Given the description of an element on the screen output the (x, y) to click on. 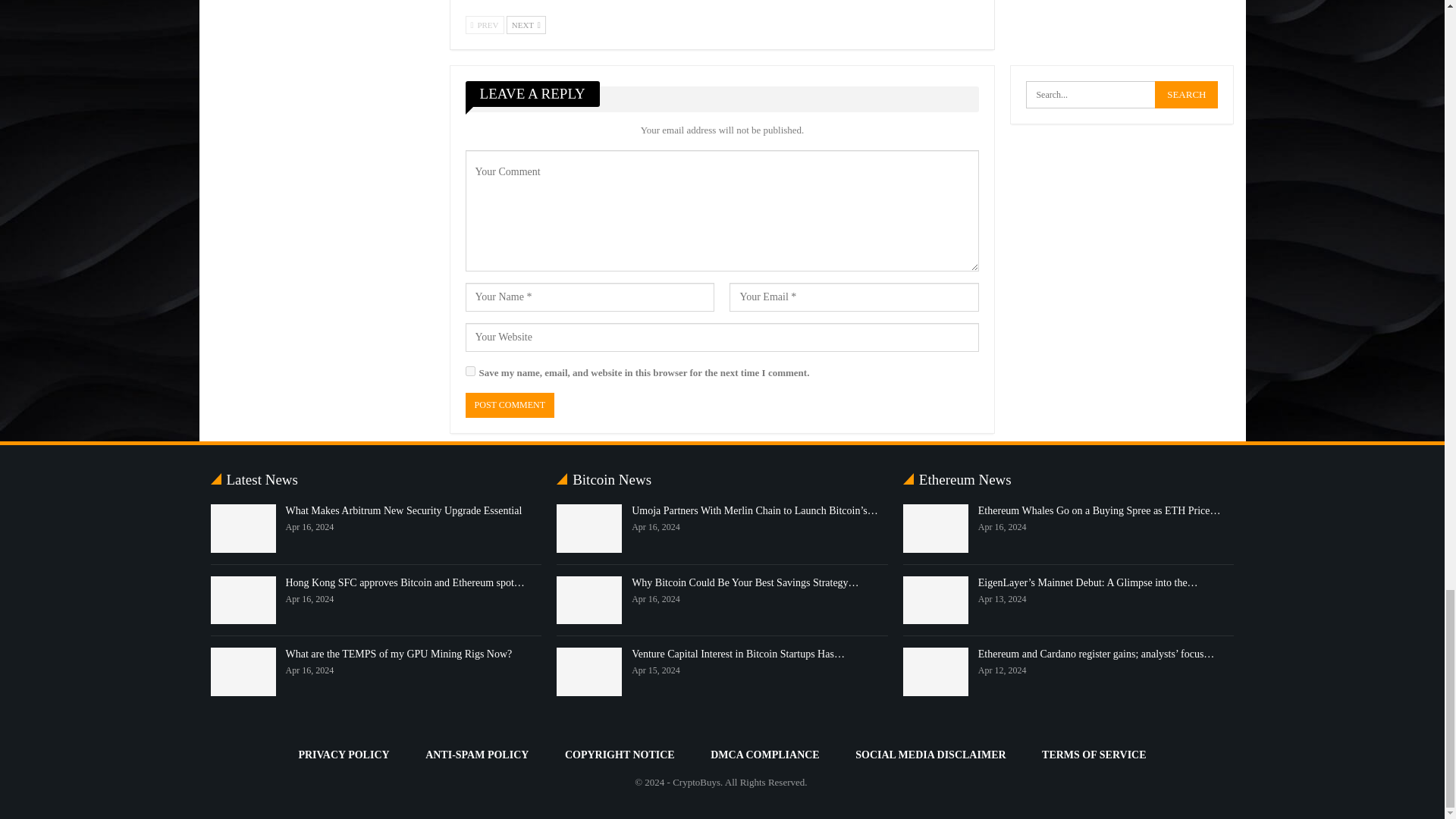
Post Comment (509, 405)
yes (470, 370)
